Given the description of an element on the screen output the (x, y) to click on. 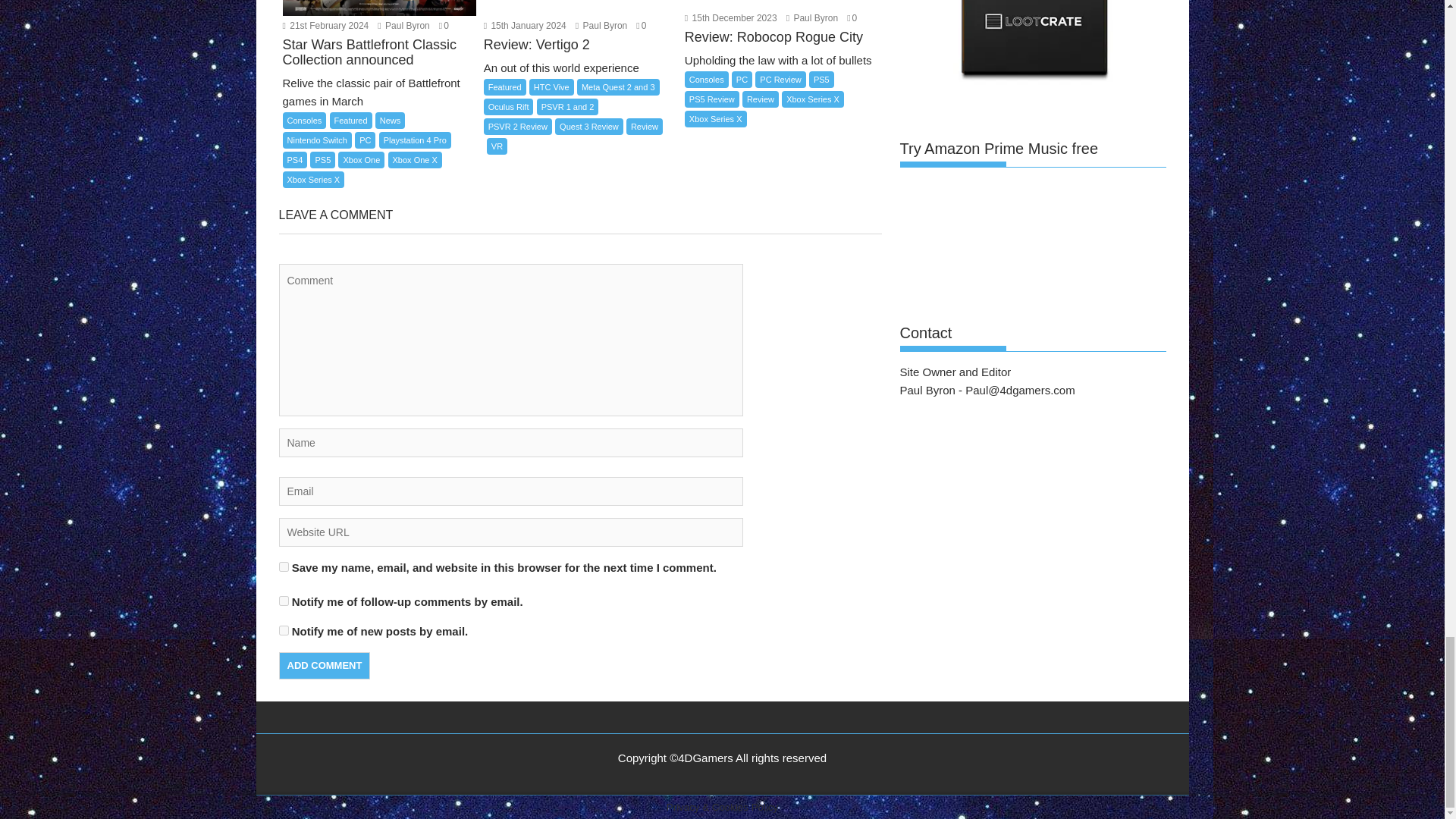
subscribe (283, 630)
subscribe (283, 601)
yes (283, 566)
Add Comment (325, 665)
